Given the description of an element on the screen output the (x, y) to click on. 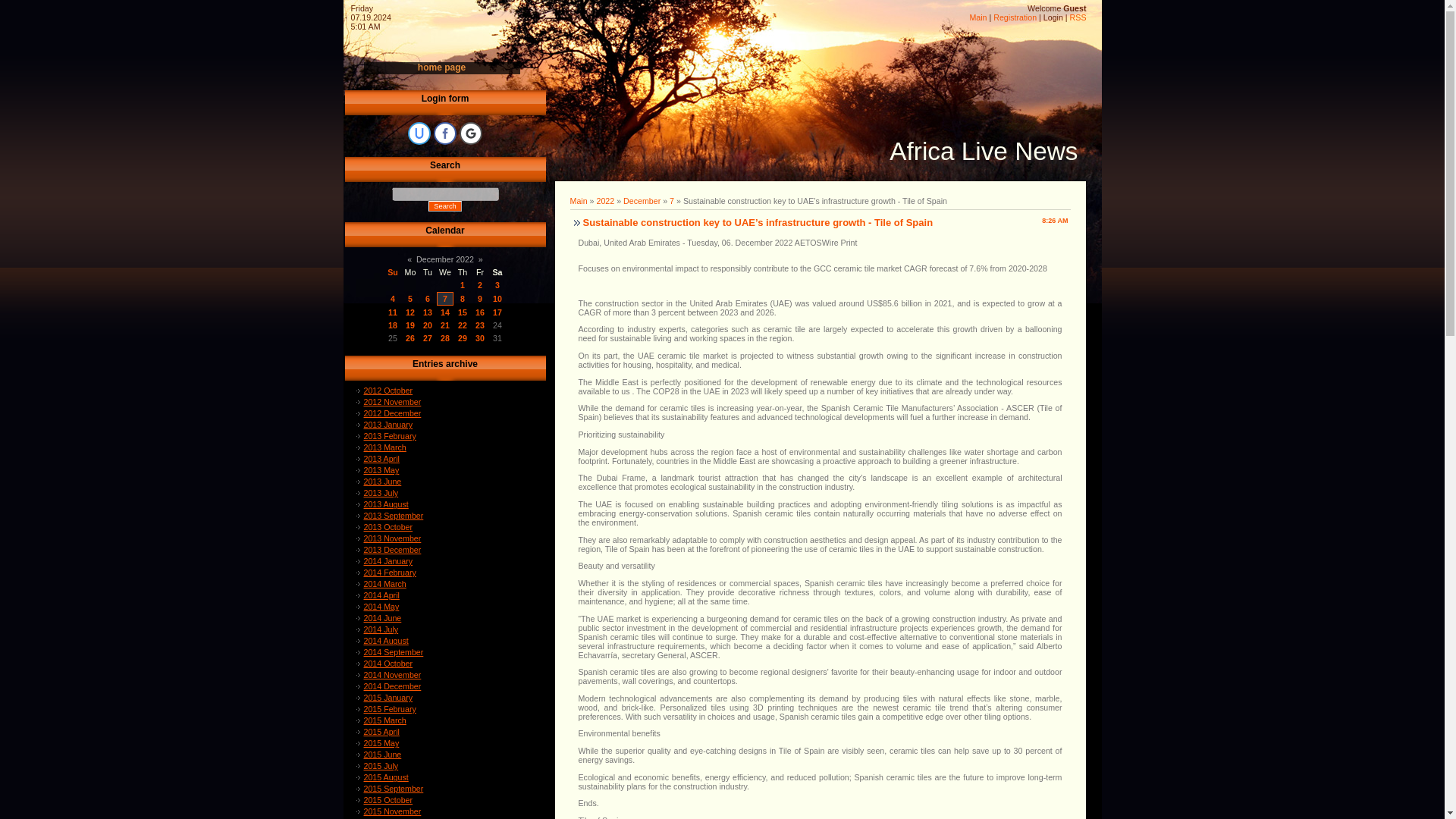
19 (410, 325)
9 (479, 298)
home page (441, 67)
17 (497, 311)
28 (445, 338)
21 (445, 325)
Main (978, 17)
11 Messages (462, 298)
9 Messages (497, 284)
13 (427, 311)
Search (444, 205)
Log in with Facebook (445, 133)
November 2022 (409, 258)
27 (427, 338)
3 (497, 284)
